Given the description of an element on the screen output the (x, y) to click on. 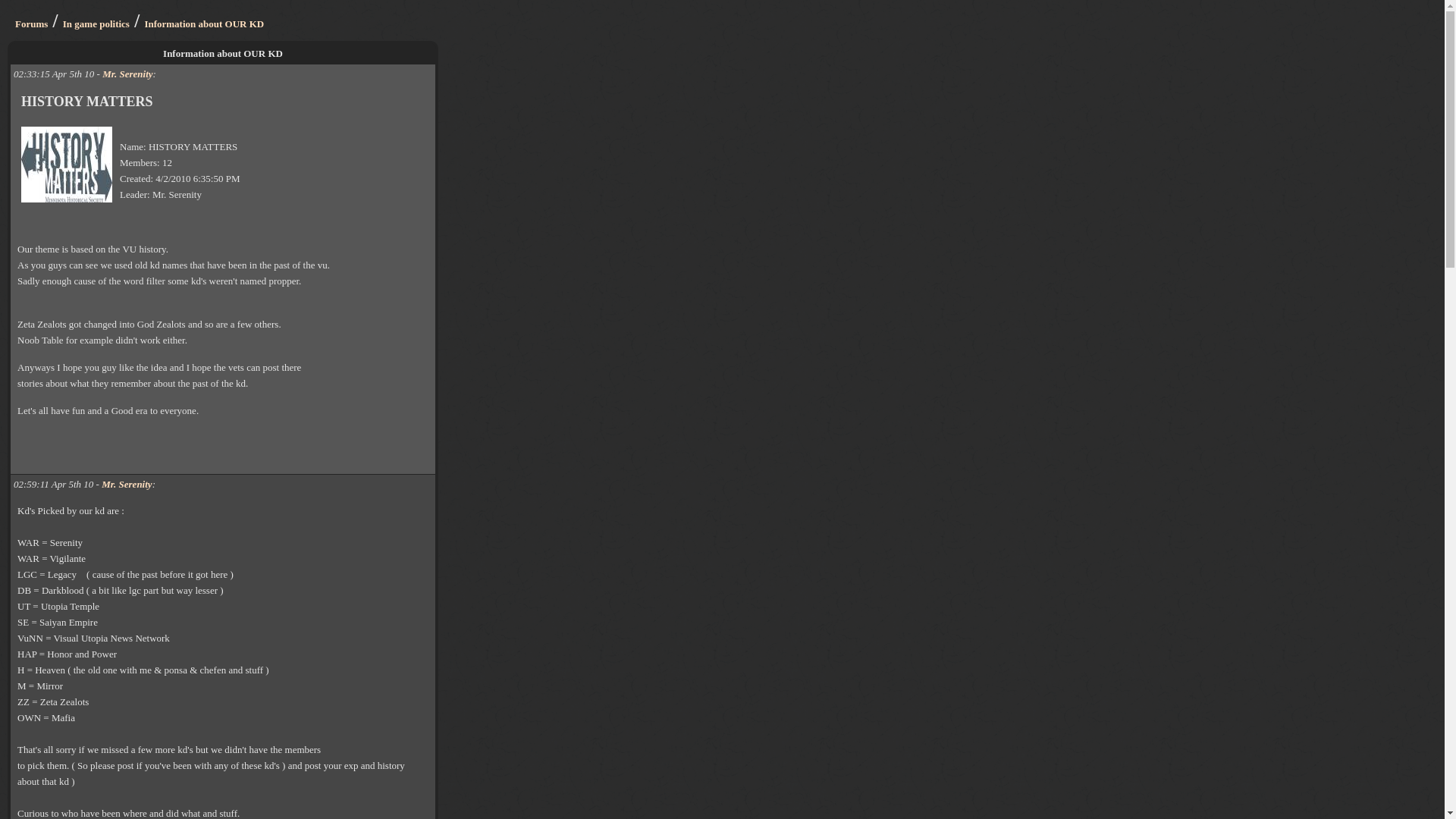
Information about OUR KD (203, 23)
Forums (31, 23)
In game politics (95, 23)
Mr. Serenity (126, 483)
Mr. Serenity (126, 73)
